Given the description of an element on the screen output the (x, y) to click on. 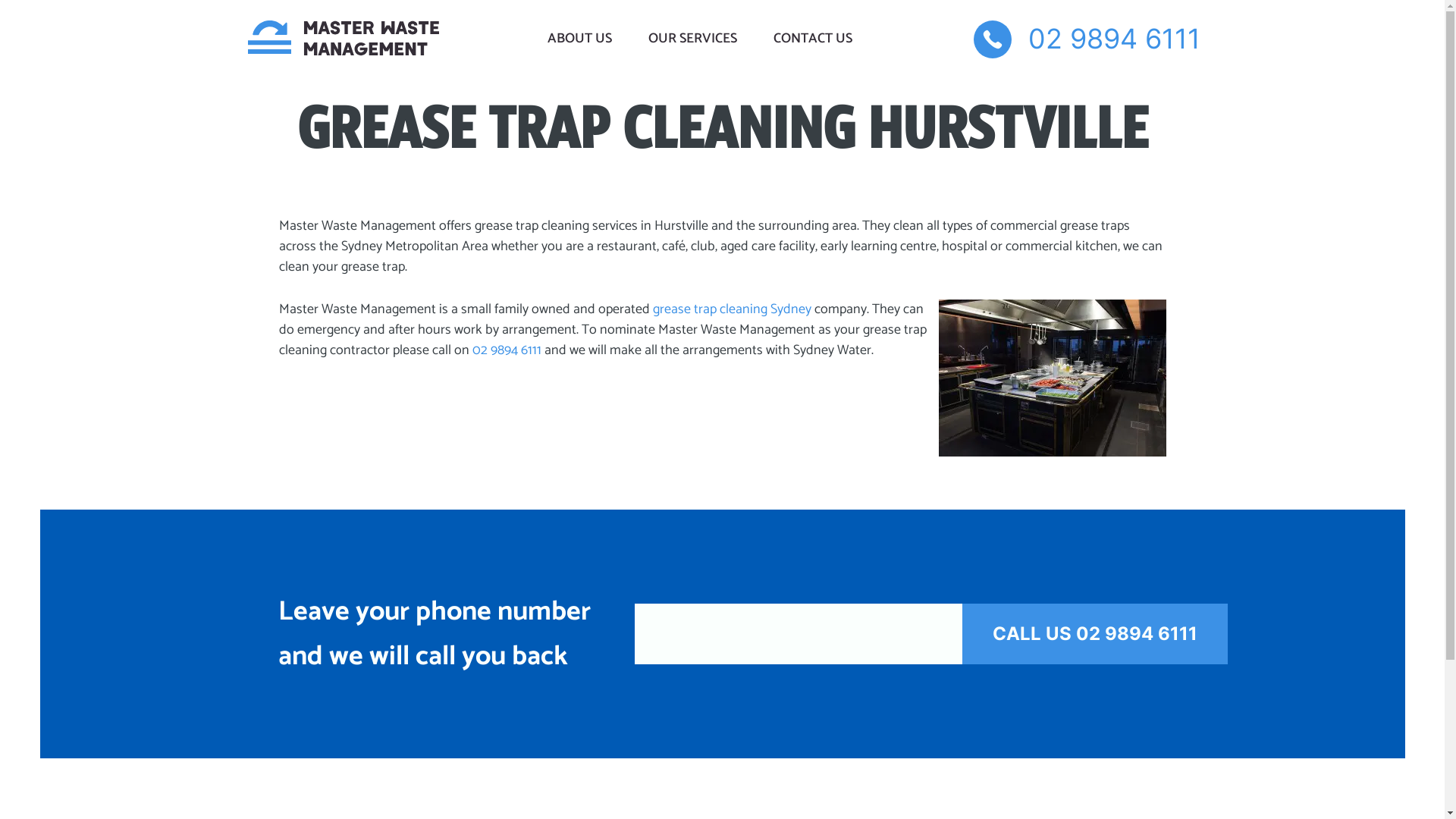
grease trap cleaning Sydney Element type: text (731, 309)
02 9894 6111 Element type: text (1086, 38)
ABOUT US Element type: text (579, 38)
02 9894 6111 Element type: text (505, 349)
Call us 02 9894 6111 Element type: text (1093, 633)
CONTACT US Element type: text (812, 38)
OUR SERVICES Element type: text (691, 38)
